Given the description of an element on the screen output the (x, y) to click on. 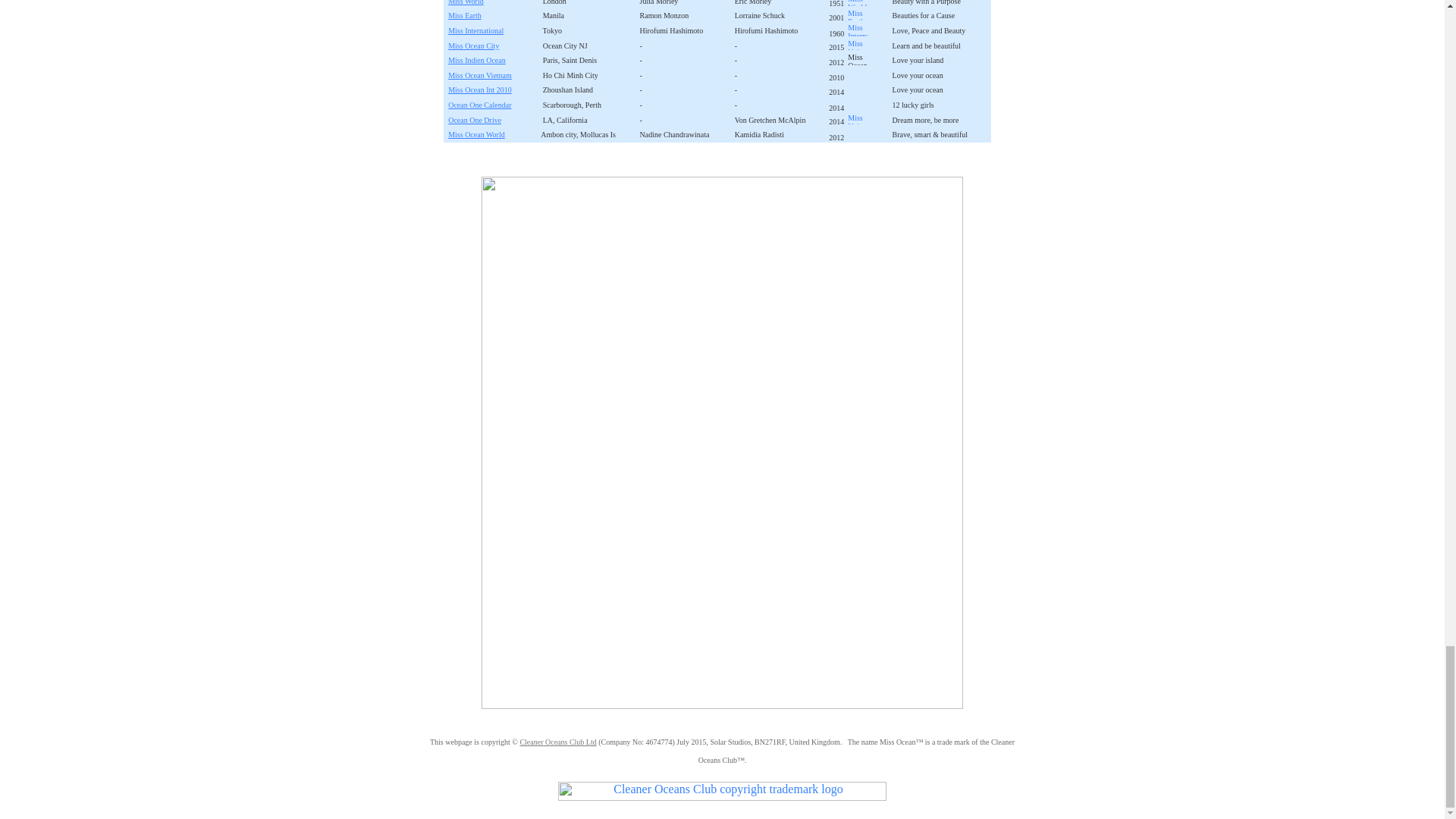
Miss International (475, 30)
Miss World (465, 2)
Miss International (476, 59)
Miss Ocean Vietnam (480, 74)
Miss Ocean City (473, 45)
Miss Indien Ocean (476, 59)
Miss Ocean Int 2010 (480, 89)
Miss International (475, 30)
Miss World (465, 2)
Ocean One Calendar (479, 104)
Miss International (480, 74)
Miss Earth (464, 14)
Miss Earth (464, 14)
Miss International (476, 133)
Miss International (479, 104)
